Given the description of an element on the screen output the (x, y) to click on. 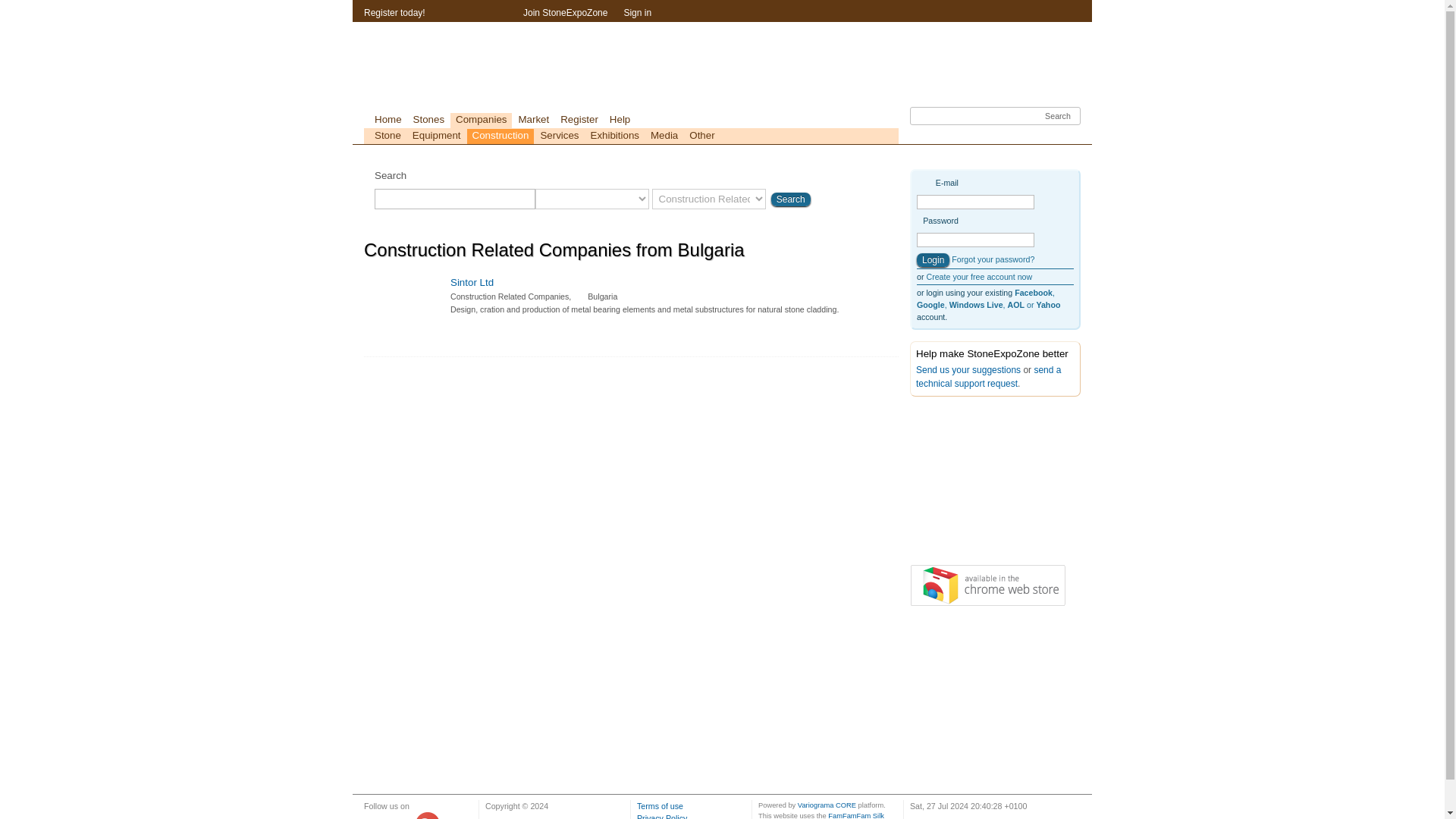
Follow us on Twitter (375, 815)
Sintor Ltd (471, 282)
Market (533, 120)
Exhibitions (615, 136)
Equipment (436, 136)
Home (388, 120)
Stones (428, 120)
Sign in (637, 13)
Services (558, 136)
Stone (387, 136)
Companies (480, 120)
Construction (500, 136)
Join StoneExpoZone (564, 13)
Media (663, 136)
Help (619, 120)
